Given the description of an element on the screen output the (x, y) to click on. 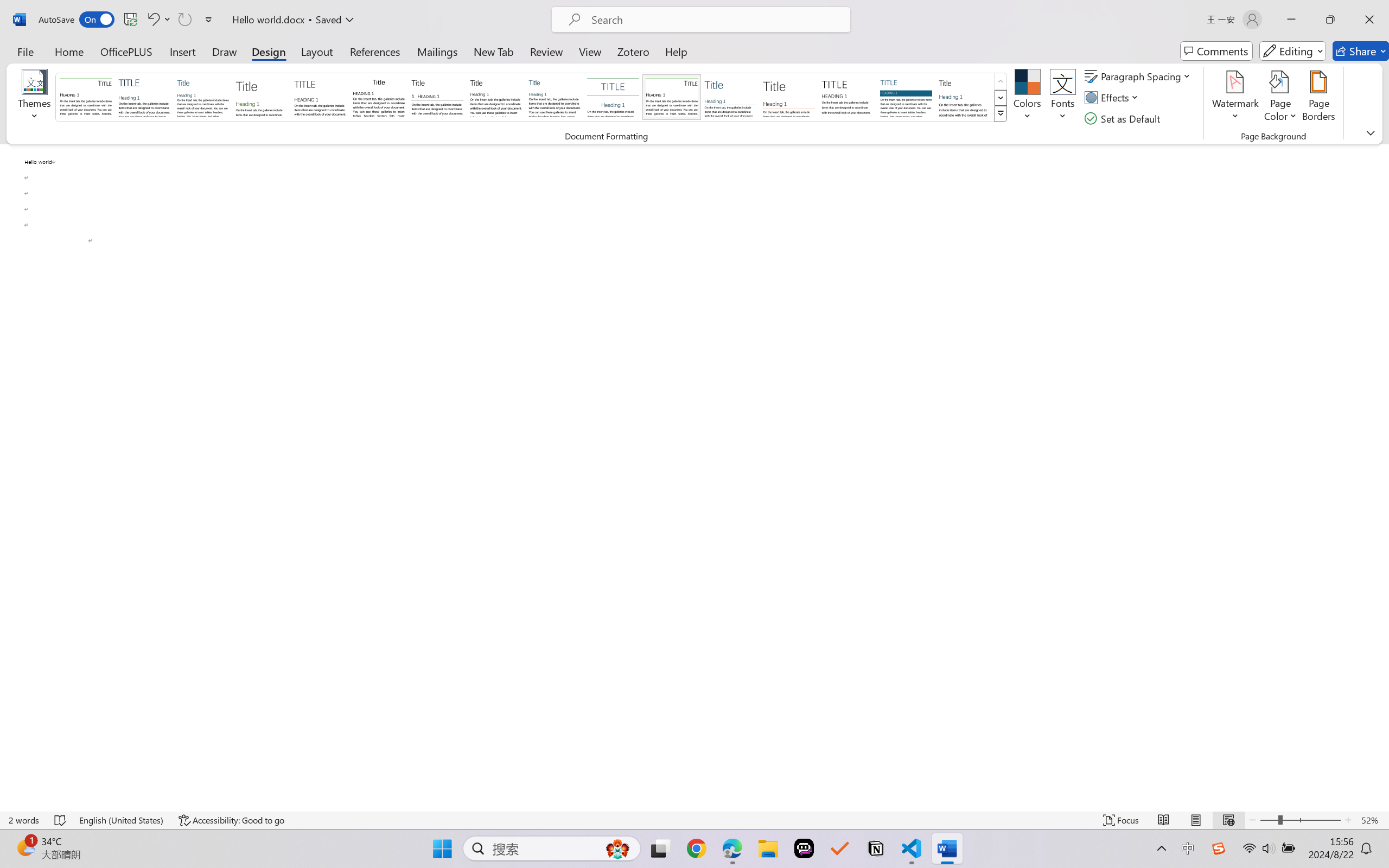
Accessibility Checker Accessibility: Good to go (231, 819)
Insert (182, 51)
Set as Default (1124, 118)
Comments (1216, 50)
View (589, 51)
Undo Apply Quick Style Set (158, 19)
Mailings (437, 51)
Can't Repeat (184, 19)
Ribbon Display Options (1370, 132)
Themes (34, 97)
Lines (Simple) (730, 96)
Undo Apply Quick Style Set (152, 19)
Shaded (905, 96)
Restore Down (1330, 19)
